Given the description of an element on the screen output the (x, y) to click on. 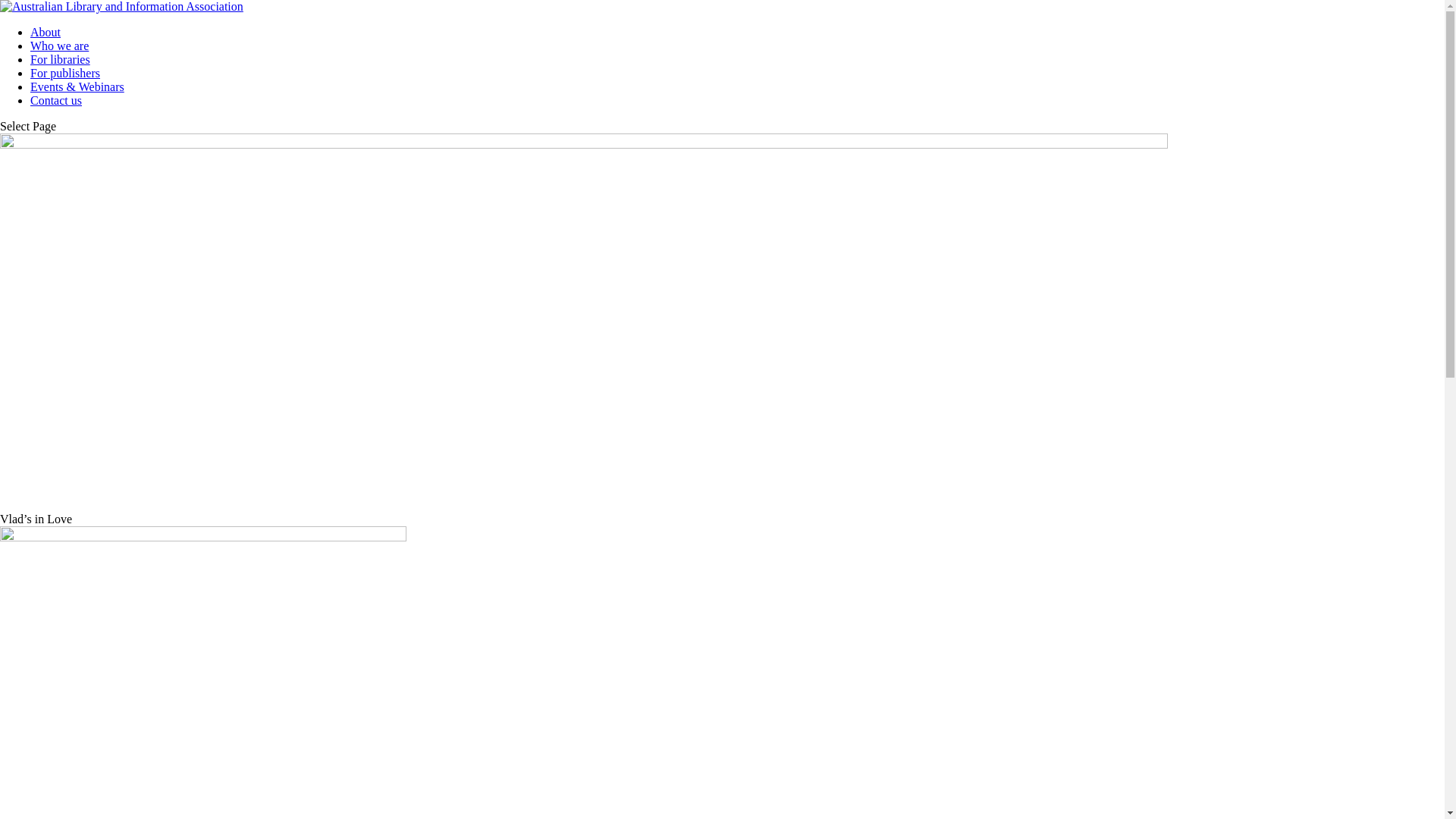
About Element type: text (45, 31)
Who we are Element type: text (59, 45)
Contact us Element type: text (55, 100)
Events & Webinars Element type: text (77, 86)
For libraries Element type: text (60, 59)
For publishers Element type: text (65, 72)
Online-Storytime-Banner2-1540x500px Element type: hover (583, 322)
